Given the description of an element on the screen output the (x, y) to click on. 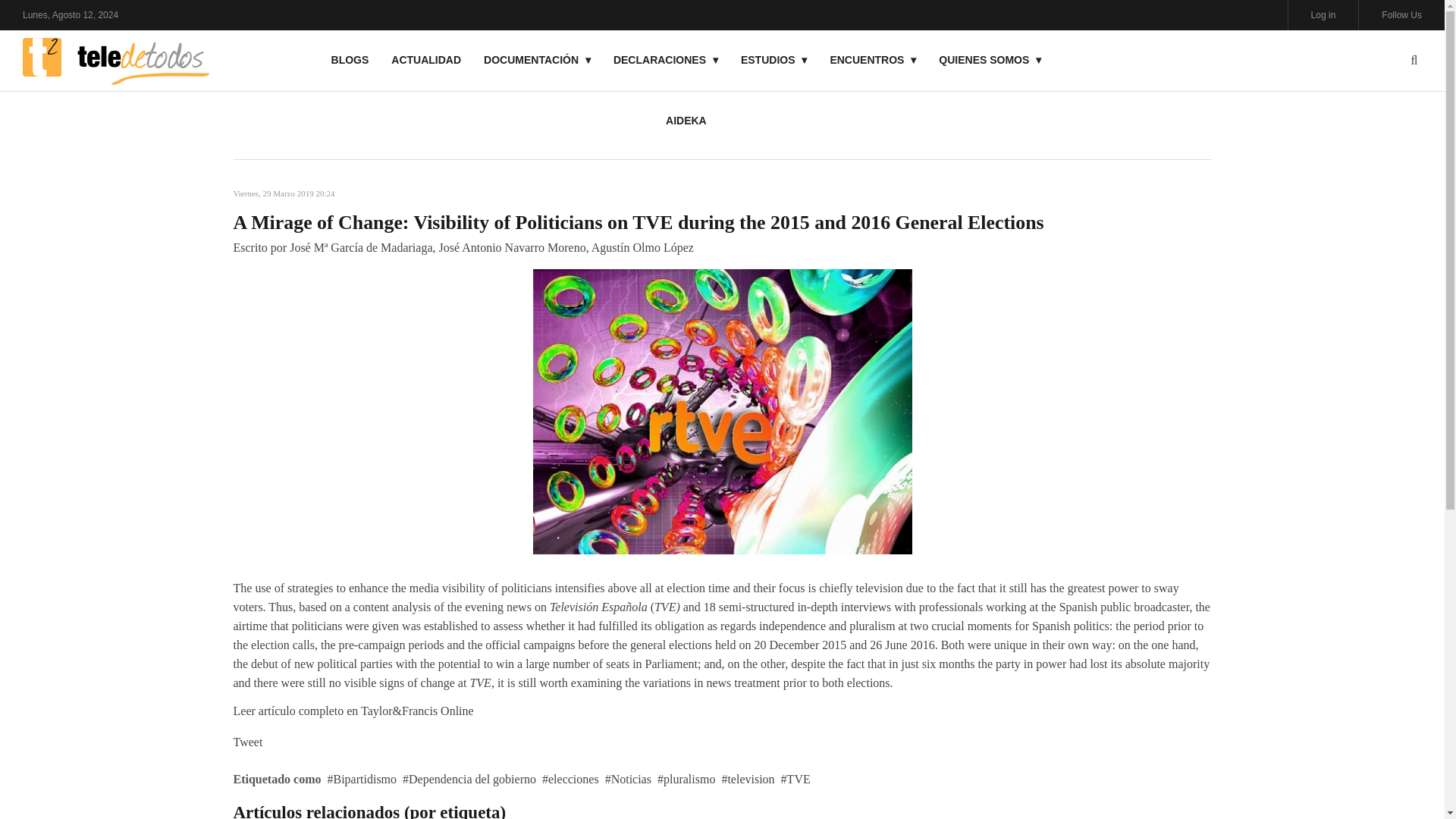
QUIENES SOMOS (989, 59)
ENCUENTROS (872, 59)
Dependencia del gobierno (469, 779)
AIDEKA (685, 120)
Clic para vista previa de la imagen (721, 410)
ESTUDIOS (773, 59)
Bipartidismo (362, 779)
elecciones (569, 779)
BLOGS (350, 59)
DECLARACIONES (665, 59)
